Given the description of an element on the screen output the (x, y) to click on. 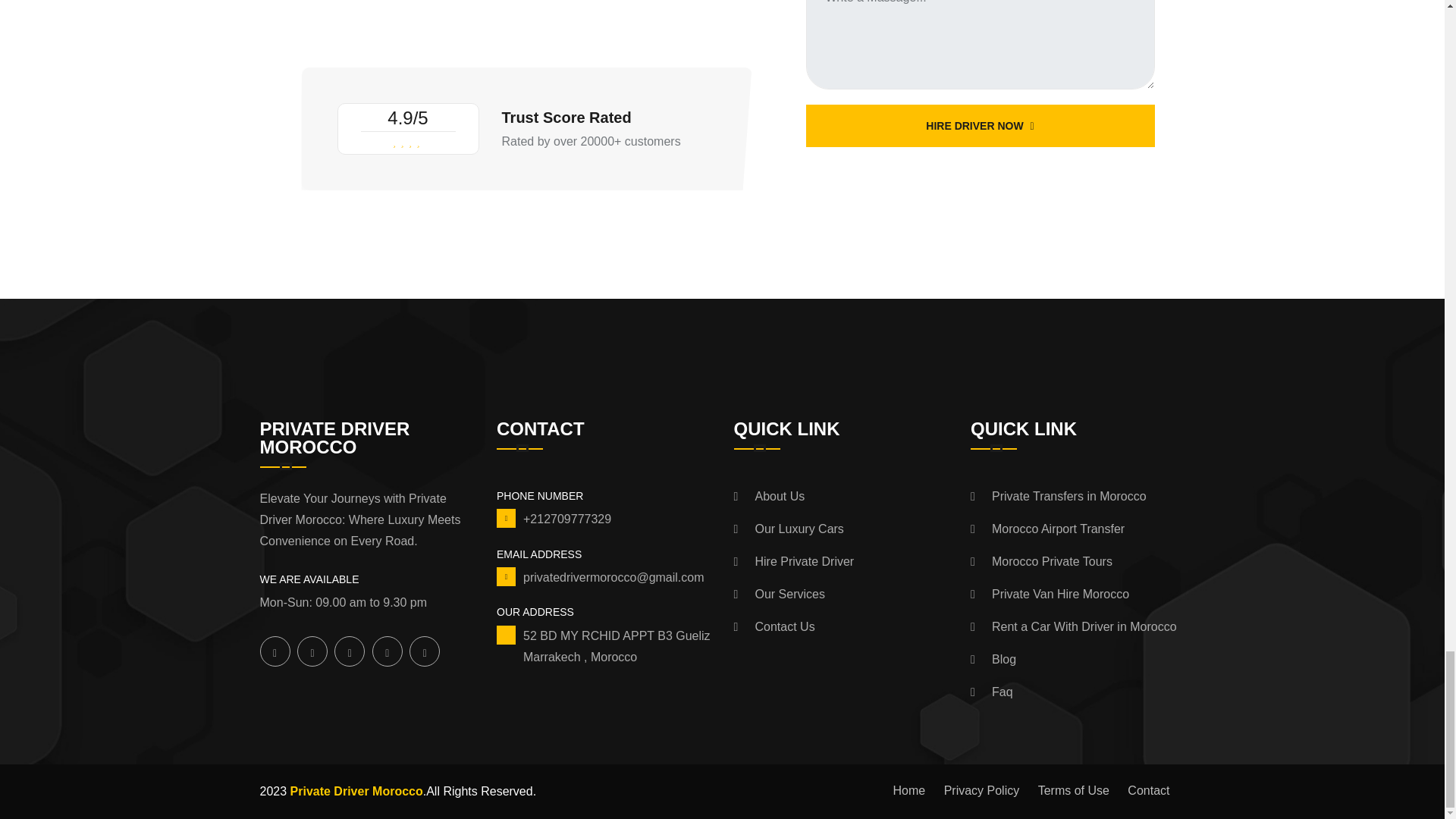
HIRE DRIVER NOW (979, 125)
Private Driver Morocco (354, 790)
